Given the description of an element on the screen output the (x, y) to click on. 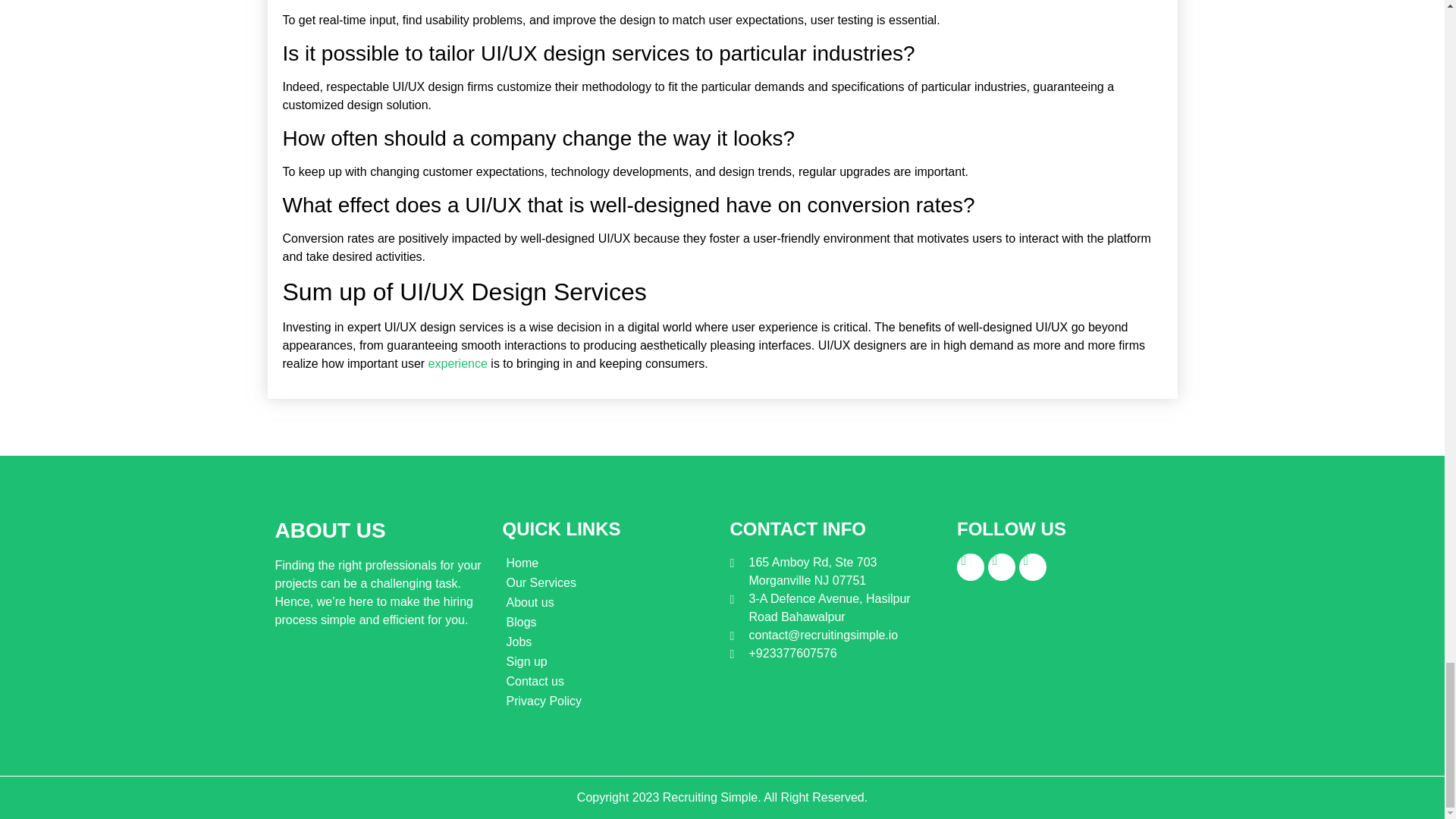
Jobs (608, 641)
Home (608, 563)
About us (608, 602)
Privacy Policy (608, 701)
Blogs (608, 622)
Our Services (608, 582)
experience (457, 363)
Contact us (608, 681)
Sign up (608, 661)
165 Amboy Rd, Ste 703 Morganville NJ 07751 (834, 571)
